Given the description of an element on the screen output the (x, y) to click on. 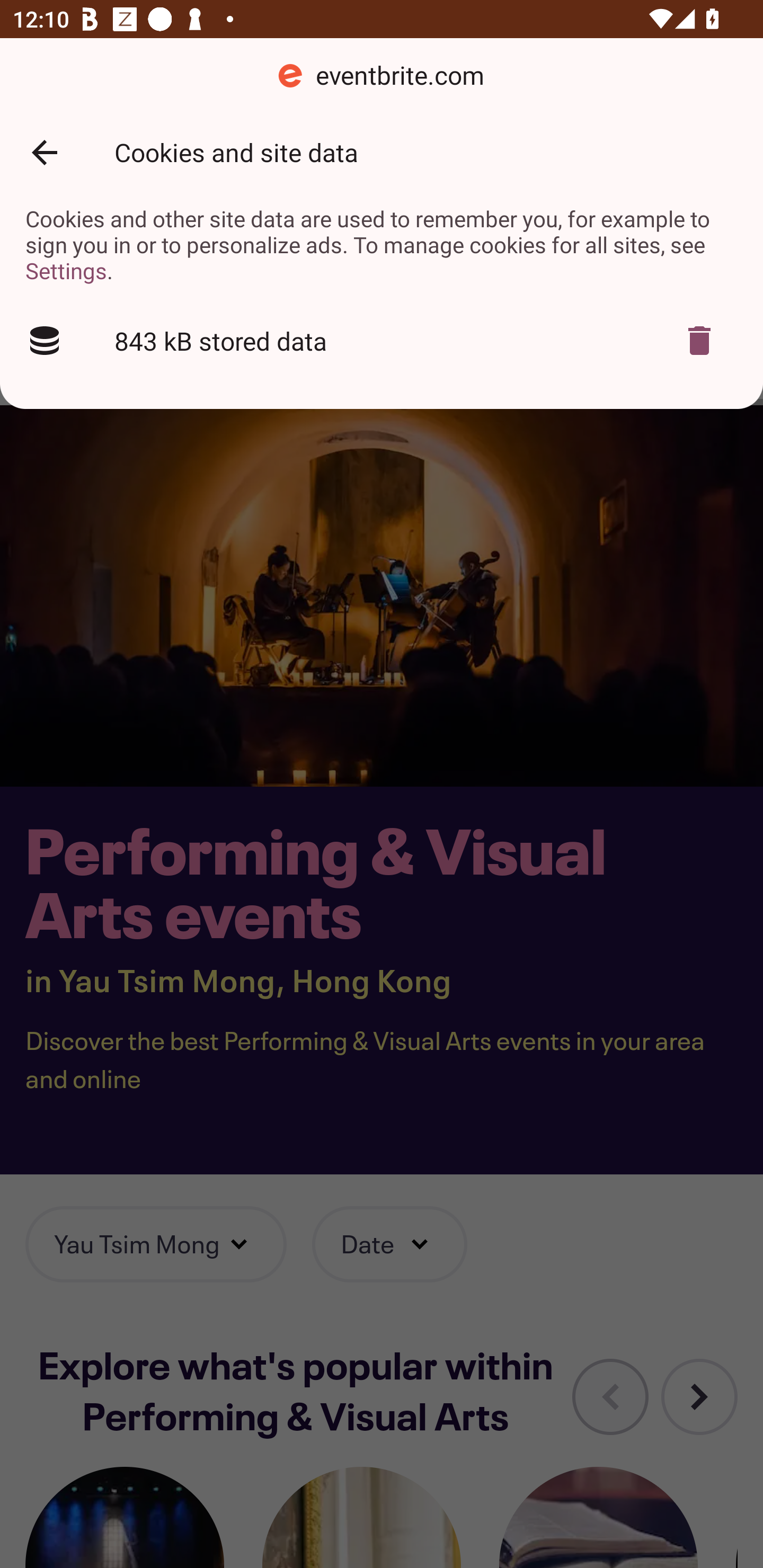
eventbrite.com (381, 75)
Back (44, 152)
843 kB stored data Delete cookies? (381, 340)
